Given the description of an element on the screen output the (x, y) to click on. 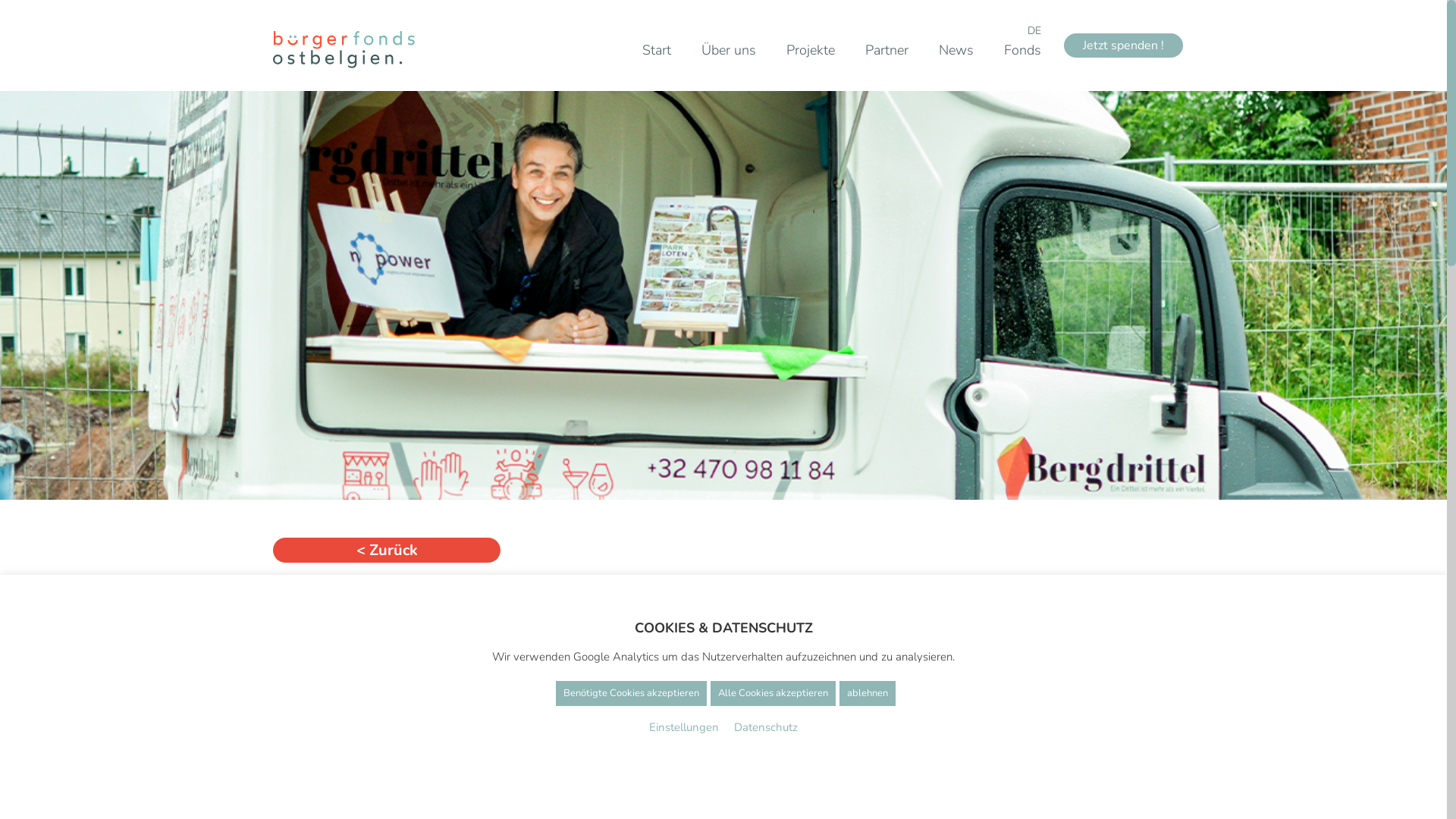
Projekte Element type: text (810, 49)
News Element type: text (955, 49)
Start Element type: text (656, 49)
Fonds Element type: text (1022, 49)
Einstellungen Element type: text (683, 727)
Buergerfond Element type: text (343, 49)
DE Element type: text (1034, 30)
Partner Element type: text (886, 49)
Datenschutz Element type: text (765, 727)
Alle Cookies akzeptieren Element type: text (771, 693)
Jetzt spenden ! Element type: text (1123, 45)
ablehnen Element type: text (866, 693)
